Given the description of an element on the screen output the (x, y) to click on. 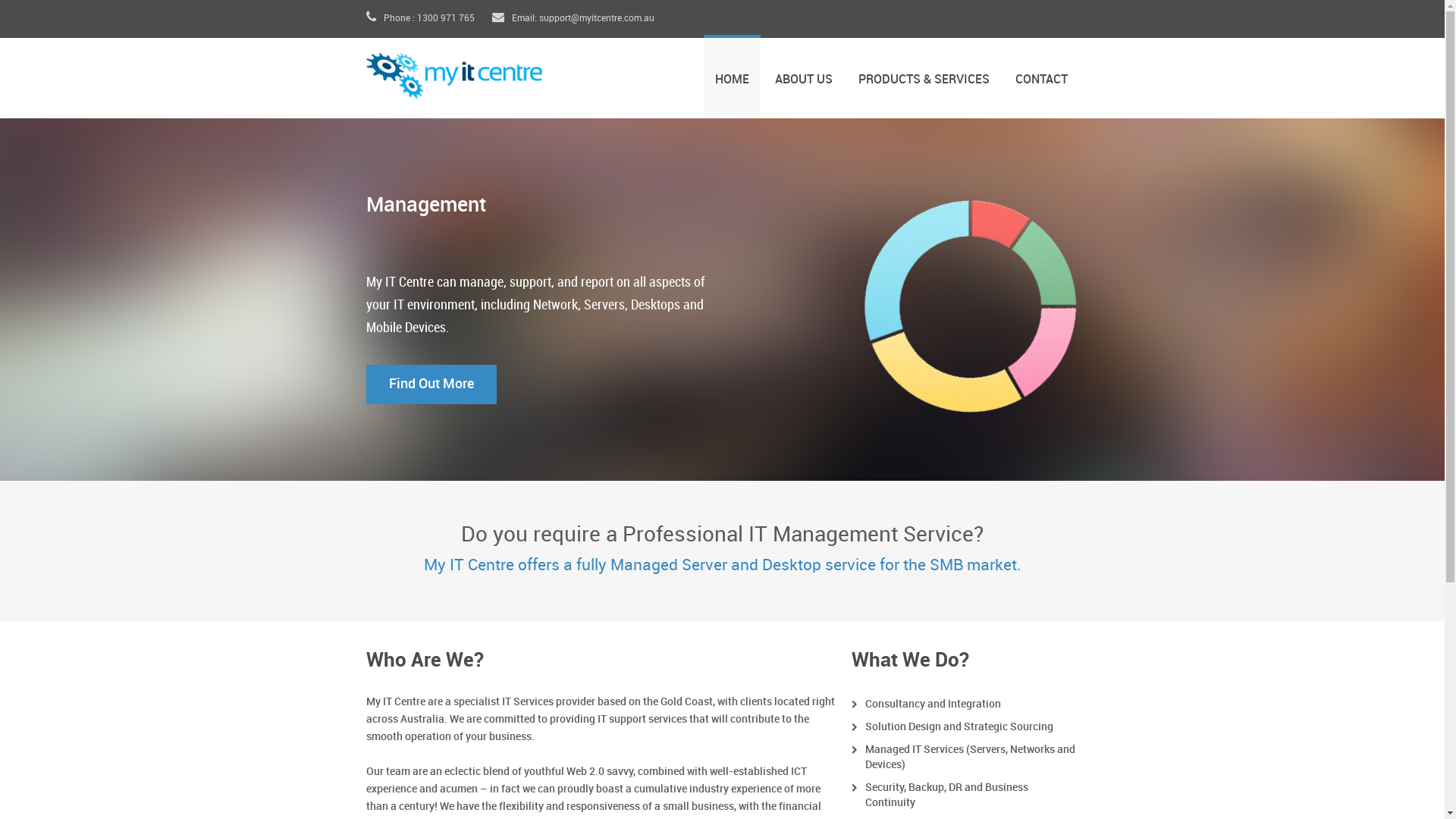
Phone : 1300 971 765 Element type: text (419, 18)
PRODUCTS & SERVICES Element type: text (923, 76)
ABOUT US Element type: text (802, 76)
Find Out More Element type: text (430, 384)
Managed IT Services (Servers, Networks and Devices) Element type: text (969, 756)
Email: support@myitcentre.com.au Element type: text (572, 18)
Solution Design and Strategic Sourcing Element type: text (958, 726)
Security, Backup, DR and Business Continuity Element type: text (945, 794)
HOME Element type: text (731, 76)
Consultancy and Integration Element type: text (932, 703)
CONTACT Element type: text (1041, 76)
